Given the description of an element on the screen output the (x, y) to click on. 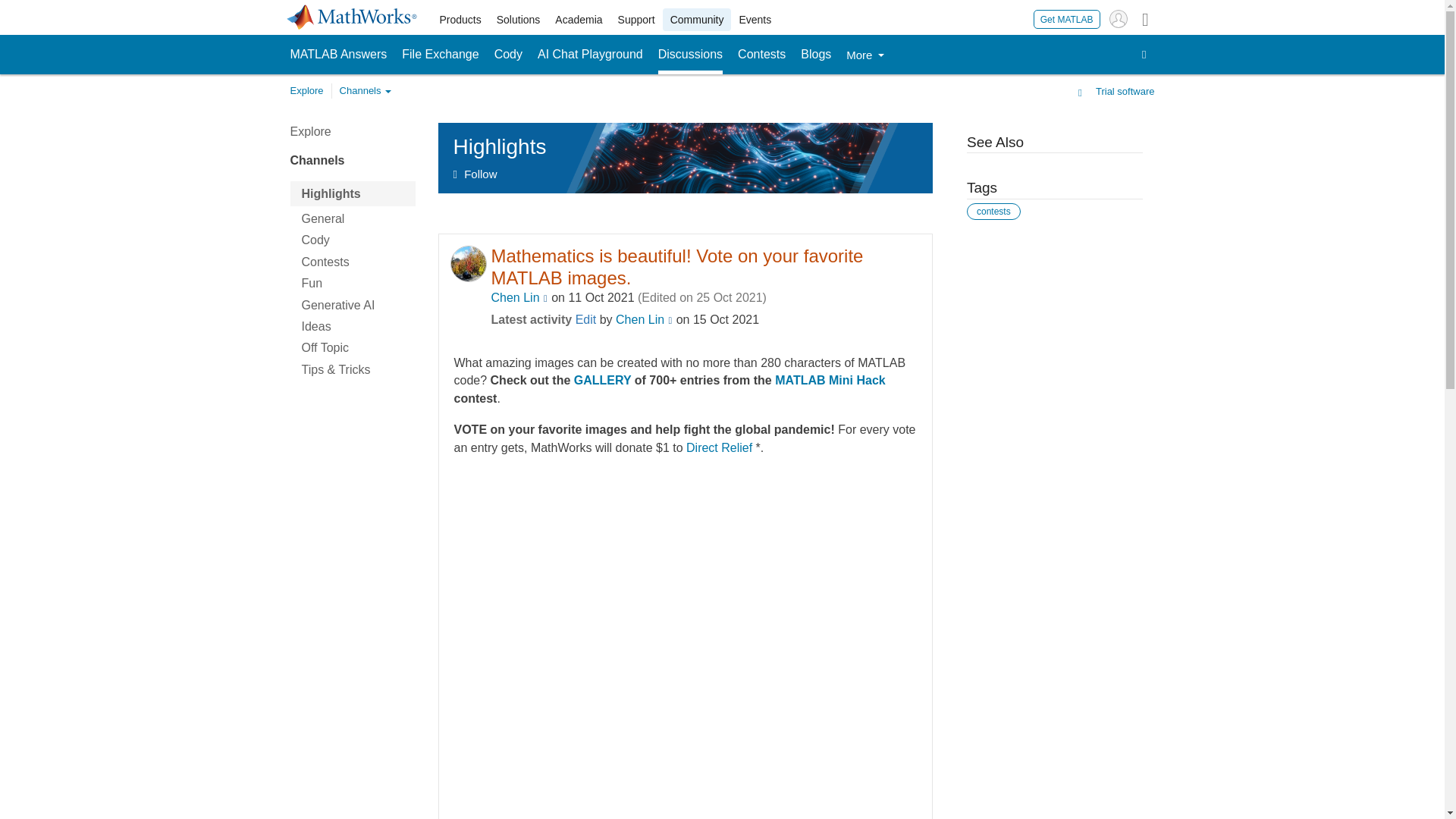
Cody (508, 54)
Discussions (690, 54)
Academia (578, 19)
Products (460, 19)
Community (697, 19)
MATLAB Answers (338, 54)
Blogs (815, 54)
Events (754, 19)
Contests (762, 54)
File Exchange (440, 54)
AI Chat Playground (590, 54)
Get MATLAB (1066, 18)
MathWorks Staff (545, 299)
MathWorks Staff (670, 320)
Support (636, 19)
